Given the description of an element on the screen output the (x, y) to click on. 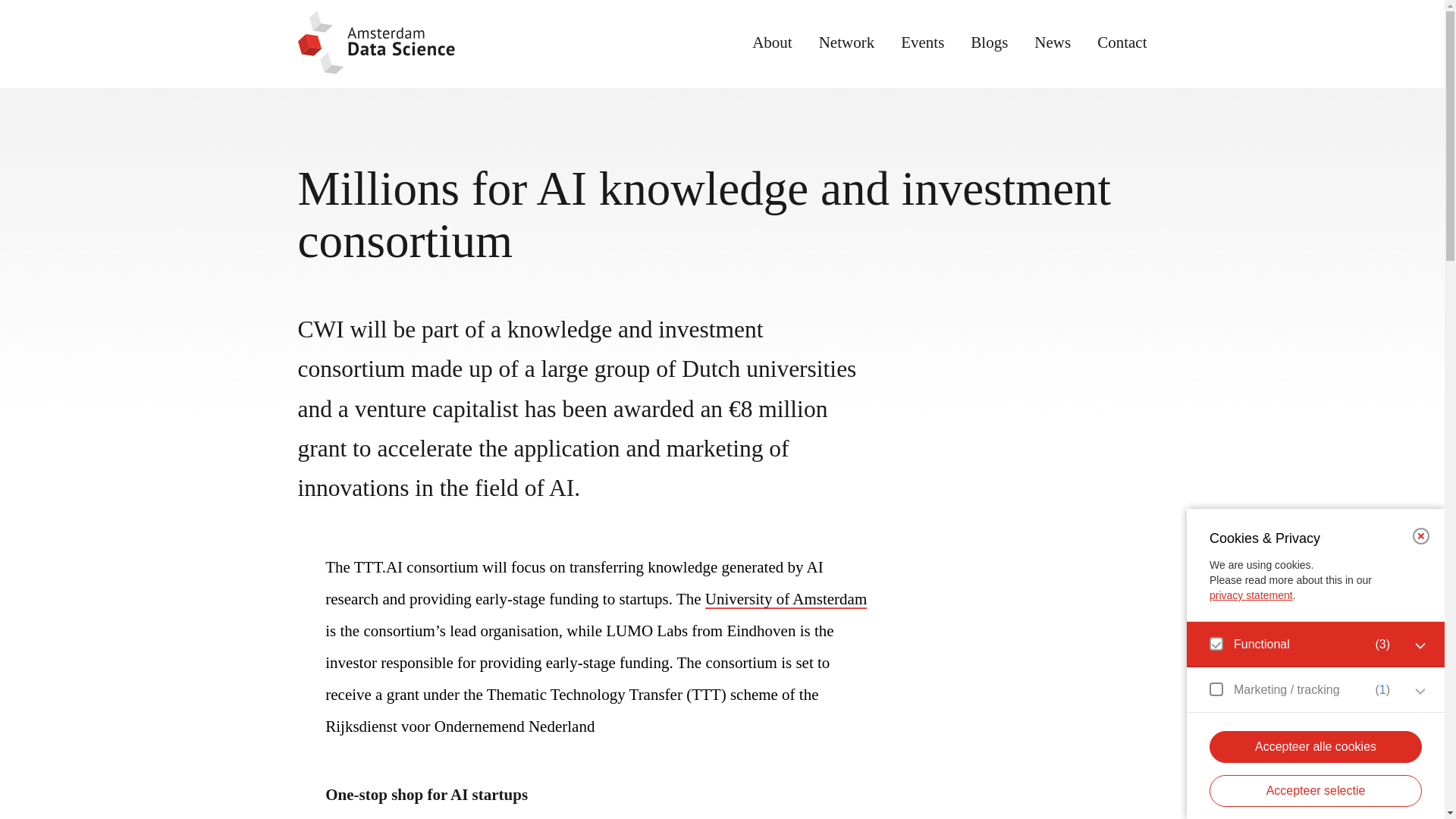
Events (922, 42)
News (1051, 42)
privacy statement (1250, 594)
privacy statement (1250, 594)
Network (846, 42)
About (772, 42)
Contact (1122, 42)
University of Amsterdam (785, 599)
Accepteer selectie (1315, 790)
Blogs (989, 42)
